Given the description of an element on the screen output the (x, y) to click on. 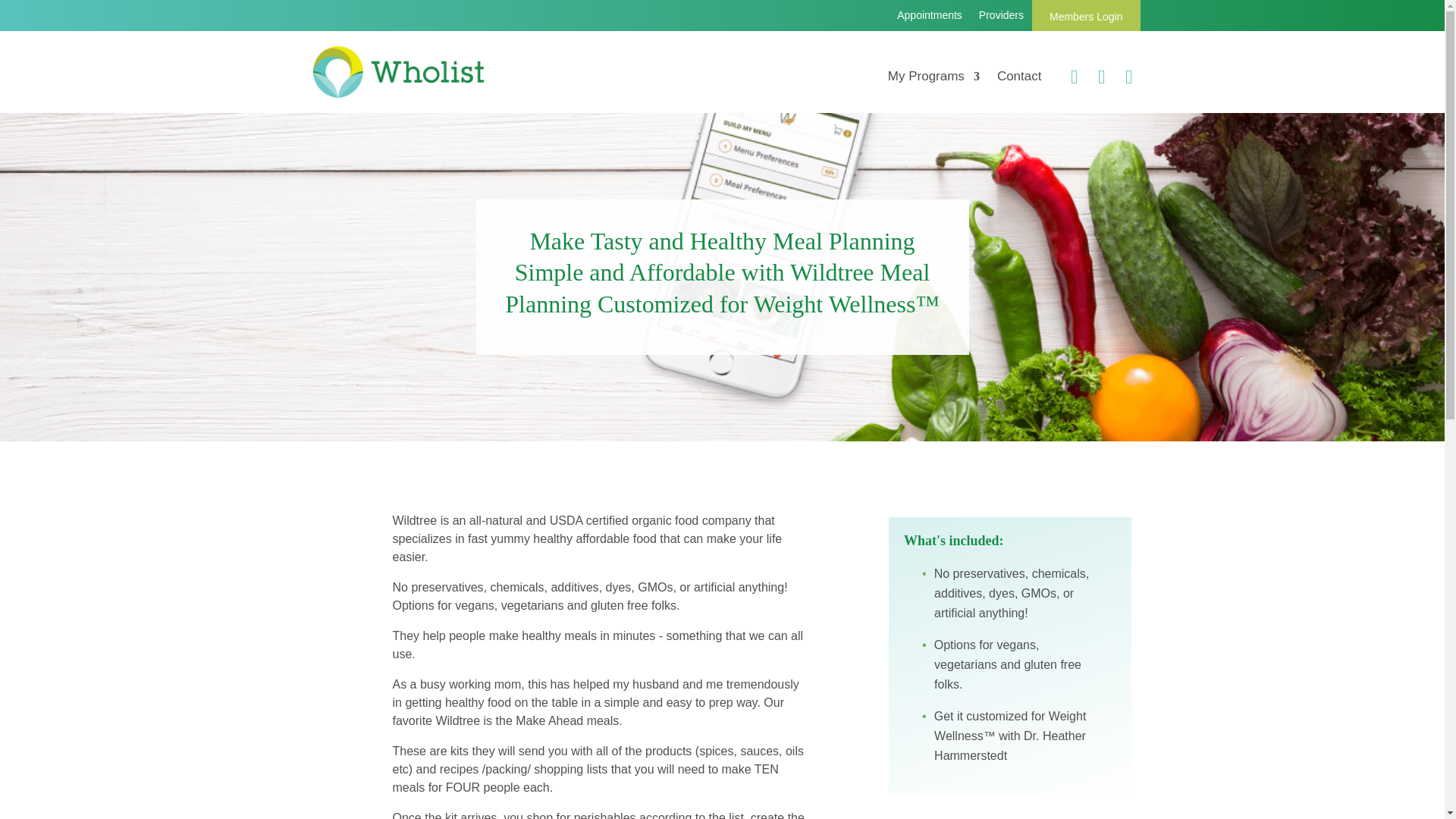
wholist-logo (398, 71)
Contact (1019, 82)
Members Login (1086, 17)
Instagram (1067, 78)
Youtube (1095, 78)
My Programs (933, 82)
Providers (1000, 20)
Appointments (929, 20)
Facebook (1122, 78)
